Given the description of an element on the screen output the (x, y) to click on. 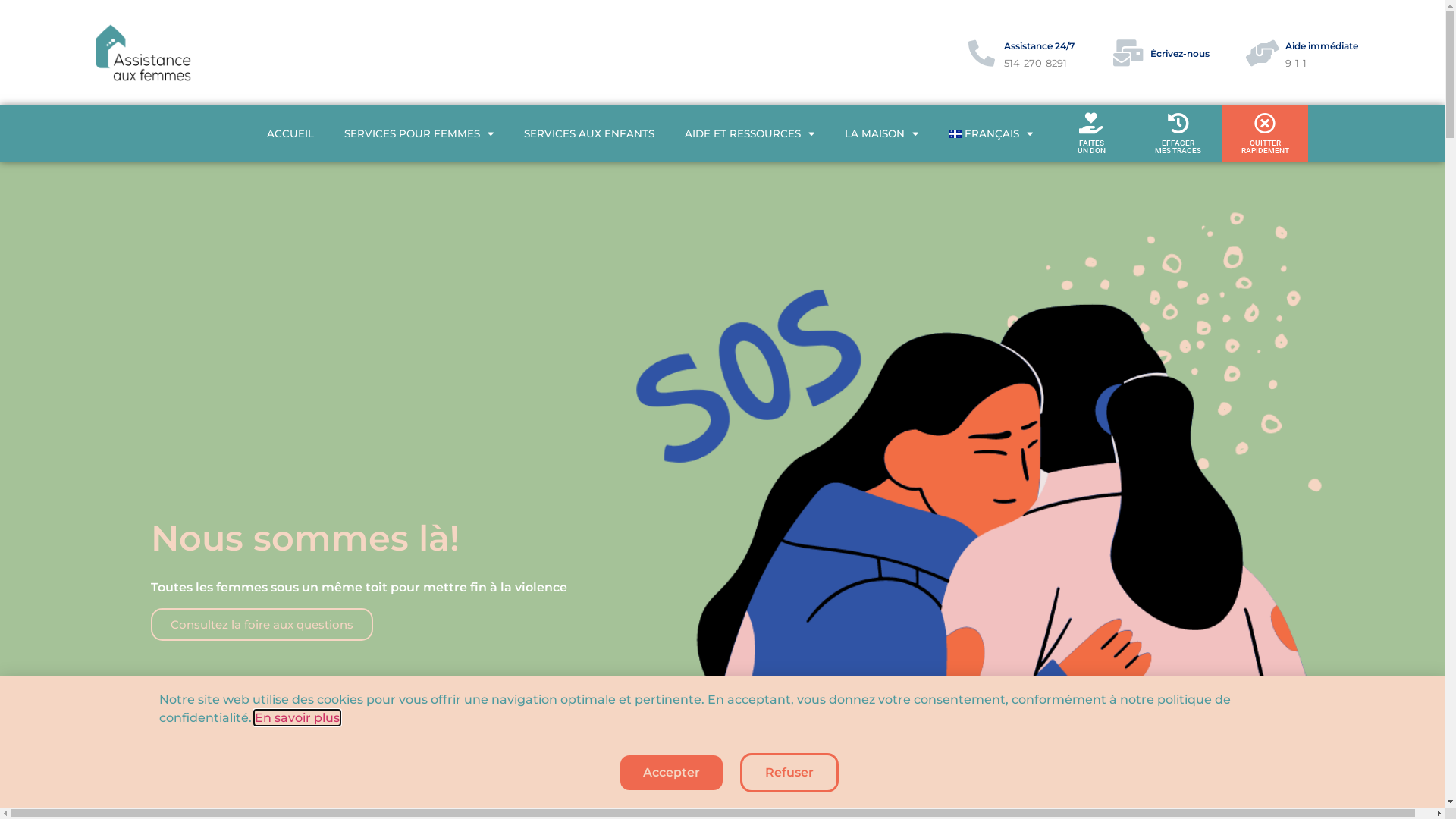
Assistance 24/7 Element type: text (1039, 45)
Refuser Element type: text (789, 772)
LA MAISON Element type: text (881, 133)
SERVICES POUR FEMMES Element type: text (418, 133)
SERVICES AUX ENFANTS Element type: text (588, 133)
Accepter Element type: text (670, 772)
AIDE ET RESSOURCES Element type: text (749, 133)
En savoir plus Element type: text (296, 717)
QUITTER
RAPIDEMENT Element type: text (1264, 133)
FAITES
UN DON Element type: text (1091, 133)
EFFACER
MES TRACES Element type: text (1178, 133)
Consultez la foire aux questions Element type: text (261, 624)
ACCUEIL Element type: text (290, 133)
